Given the description of an element on the screen output the (x, y) to click on. 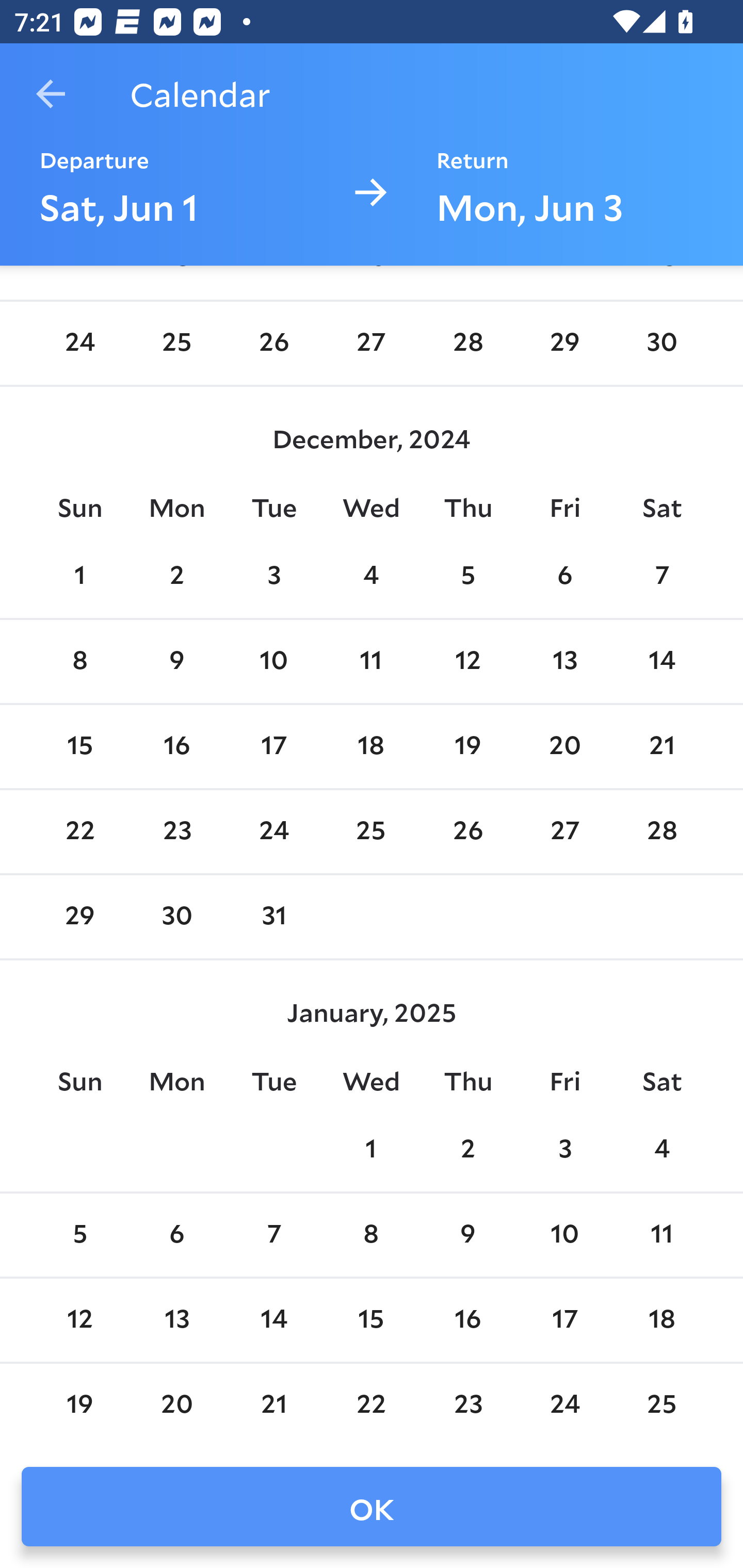
Navigate up (50, 93)
24 (79, 343)
25 (177, 343)
26 (273, 343)
27 (371, 343)
28 (467, 343)
29 (565, 343)
30 (661, 343)
1 (79, 576)
2 (177, 576)
3 (273, 576)
4 (371, 576)
5 (467, 576)
6 (565, 576)
7 (661, 576)
8 (79, 661)
9 (177, 661)
10 (273, 661)
11 (371, 661)
12 (467, 661)
13 (565, 661)
14 (661, 661)
15 (79, 746)
16 (177, 746)
17 (273, 746)
18 (371, 746)
19 (467, 746)
20 (565, 746)
21 (661, 746)
22 (79, 832)
23 (177, 832)
24 (273, 832)
25 (371, 832)
26 (467, 832)
27 (565, 832)
28 (661, 832)
29 (79, 917)
30 (177, 917)
31 (273, 917)
1 (371, 1150)
2 (467, 1150)
3 (565, 1150)
4 (661, 1150)
5 (79, 1235)
6 (177, 1235)
7 (273, 1235)
8 (371, 1235)
9 (467, 1235)
10 (565, 1235)
11 (661, 1235)
